Given the description of an element on the screen output the (x, y) to click on. 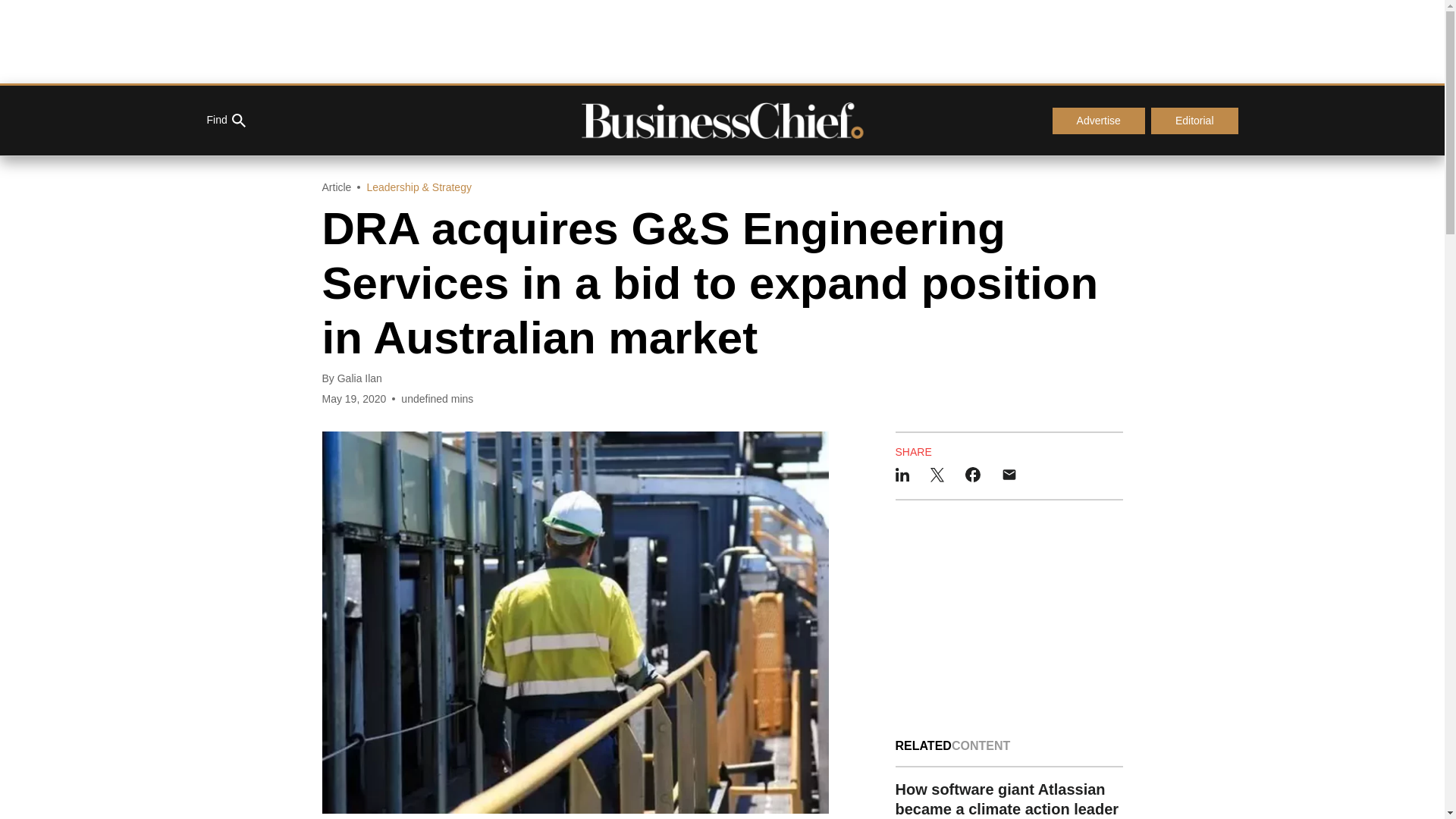
Editorial (1195, 121)
Find (225, 120)
Advertise (1098, 121)
